Given the description of an element on the screen output the (x, y) to click on. 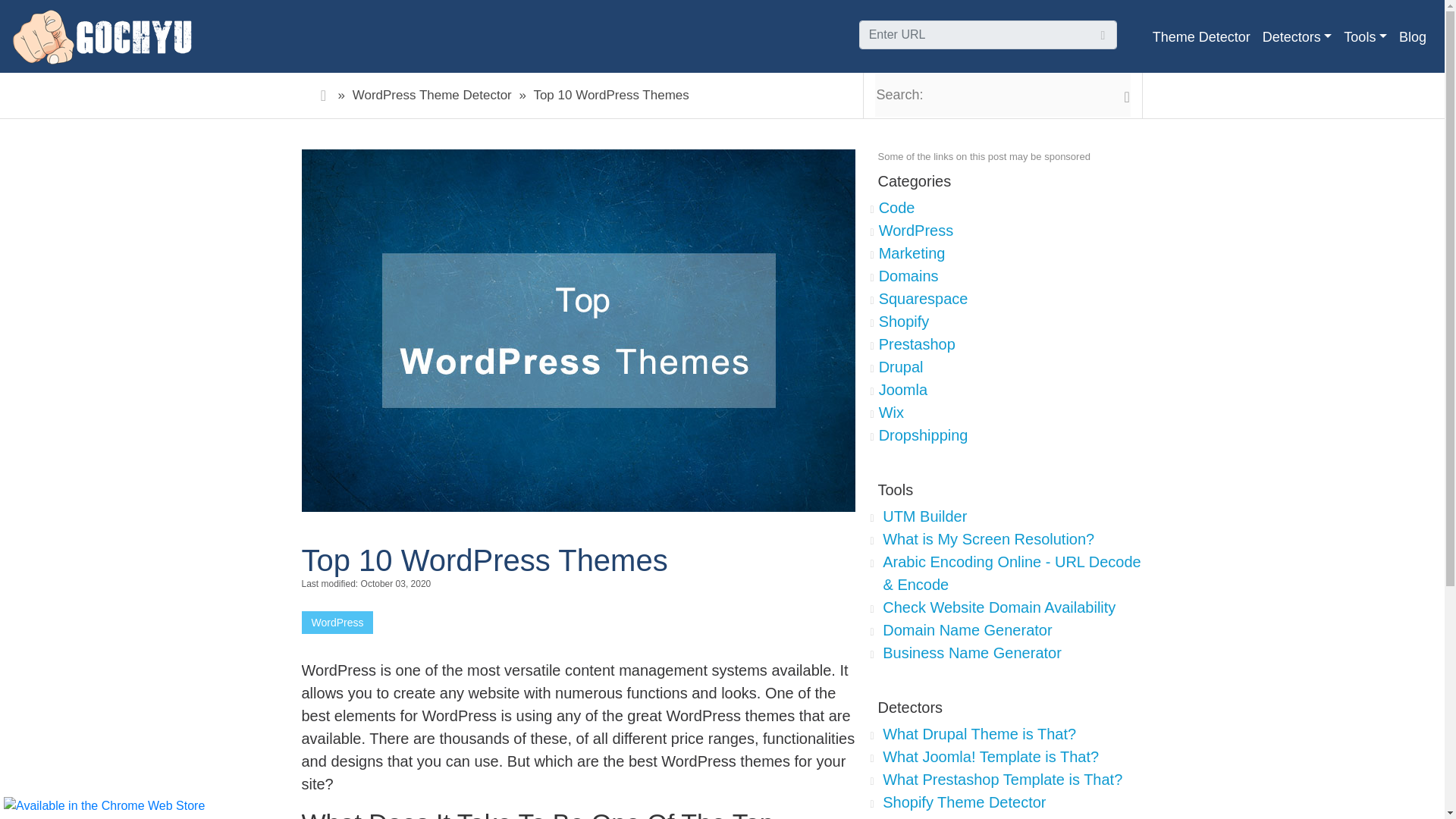
Detect (1076, 35)
Tools (1365, 36)
WordPress (337, 621)
Theme Detector (1201, 36)
Blog (1412, 36)
WordPress Theme Detector (432, 94)
Detectors (1297, 36)
